Given the description of an element on the screen output the (x, y) to click on. 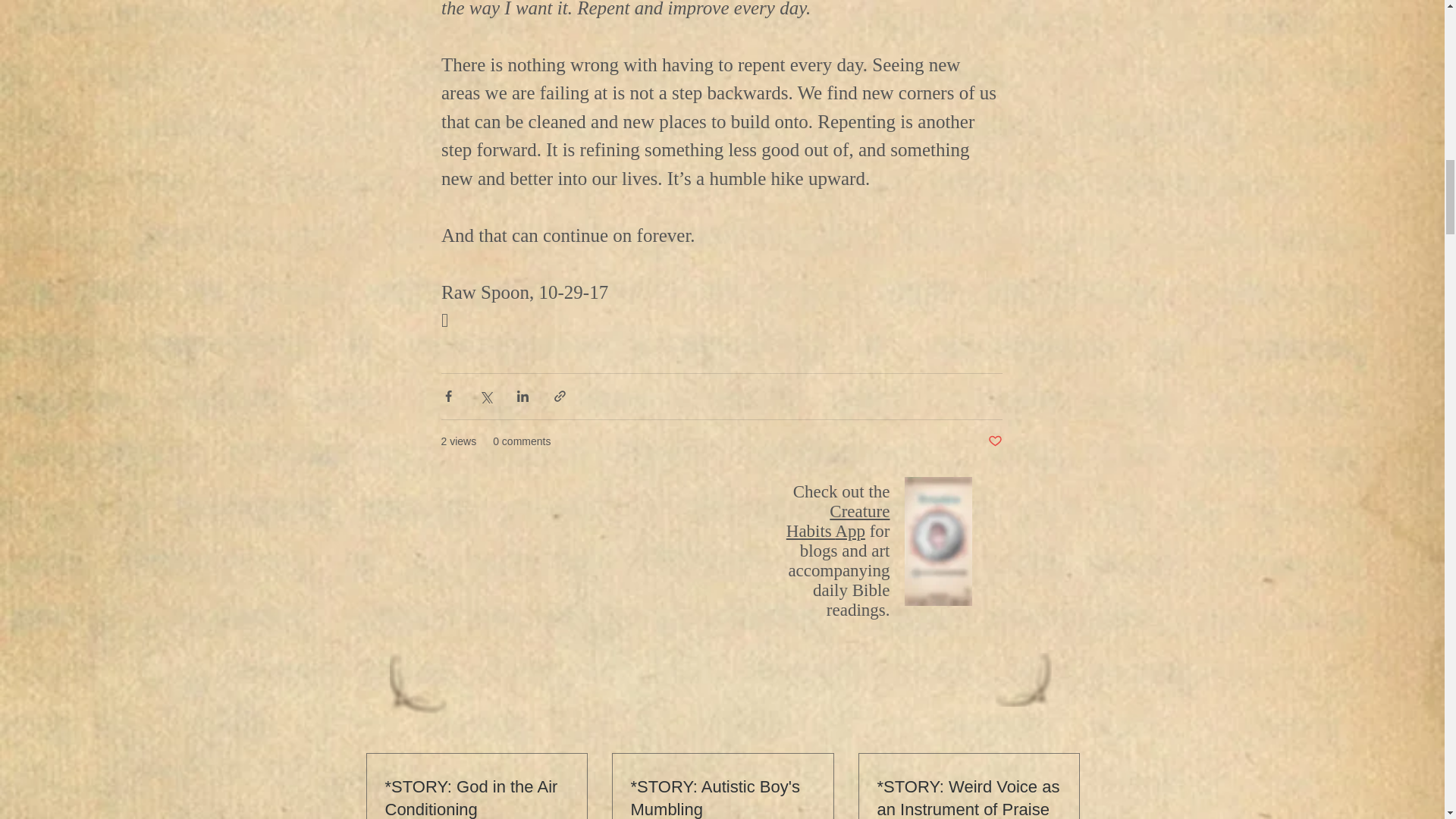
Creature Habits  (837, 521)
App (849, 530)
Post not marked as liked (994, 441)
